Given the description of an element on the screen output the (x, y) to click on. 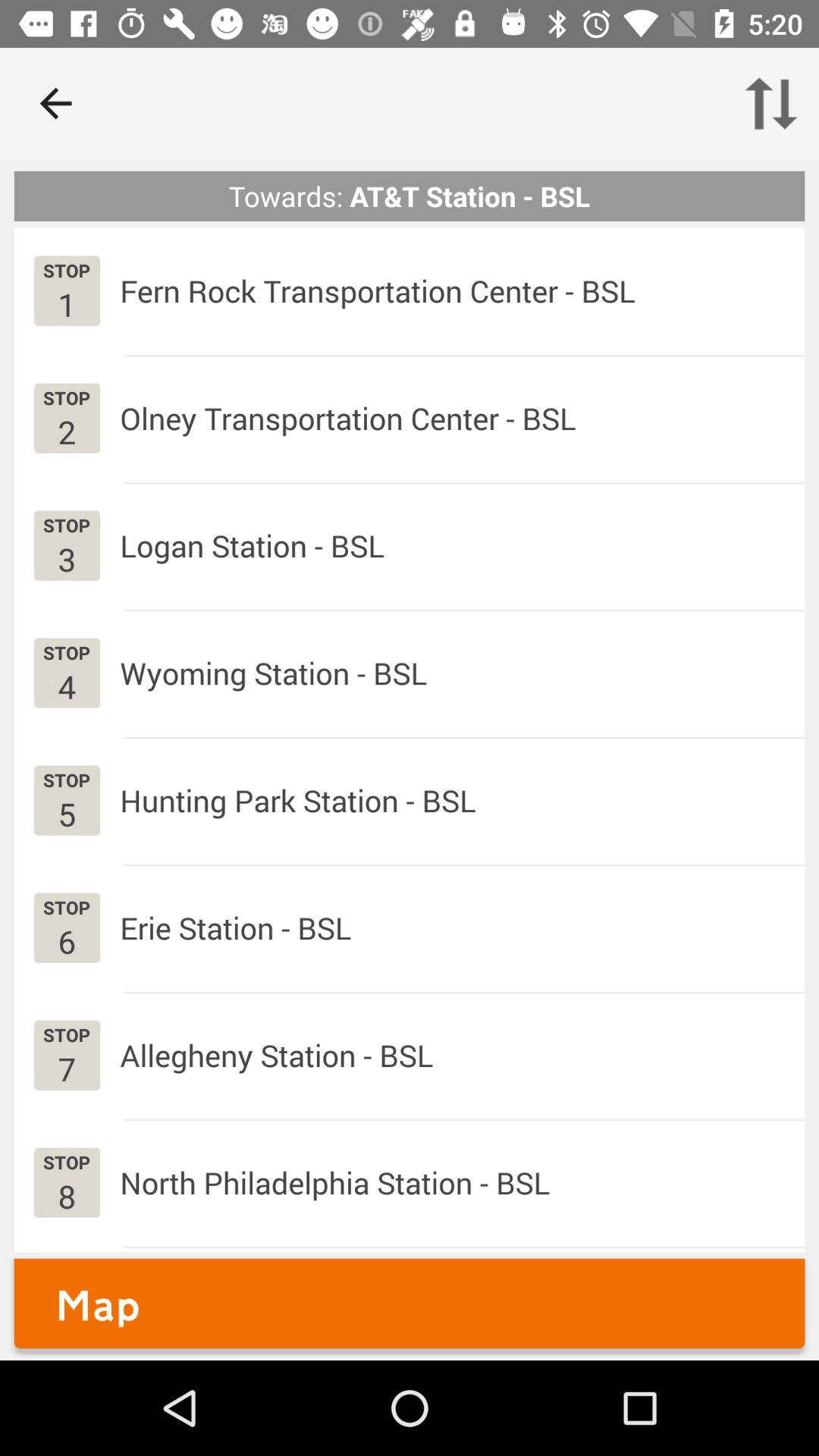
launch the item next to fern rock transportation app (66, 303)
